Given the description of an element on the screen output the (x, y) to click on. 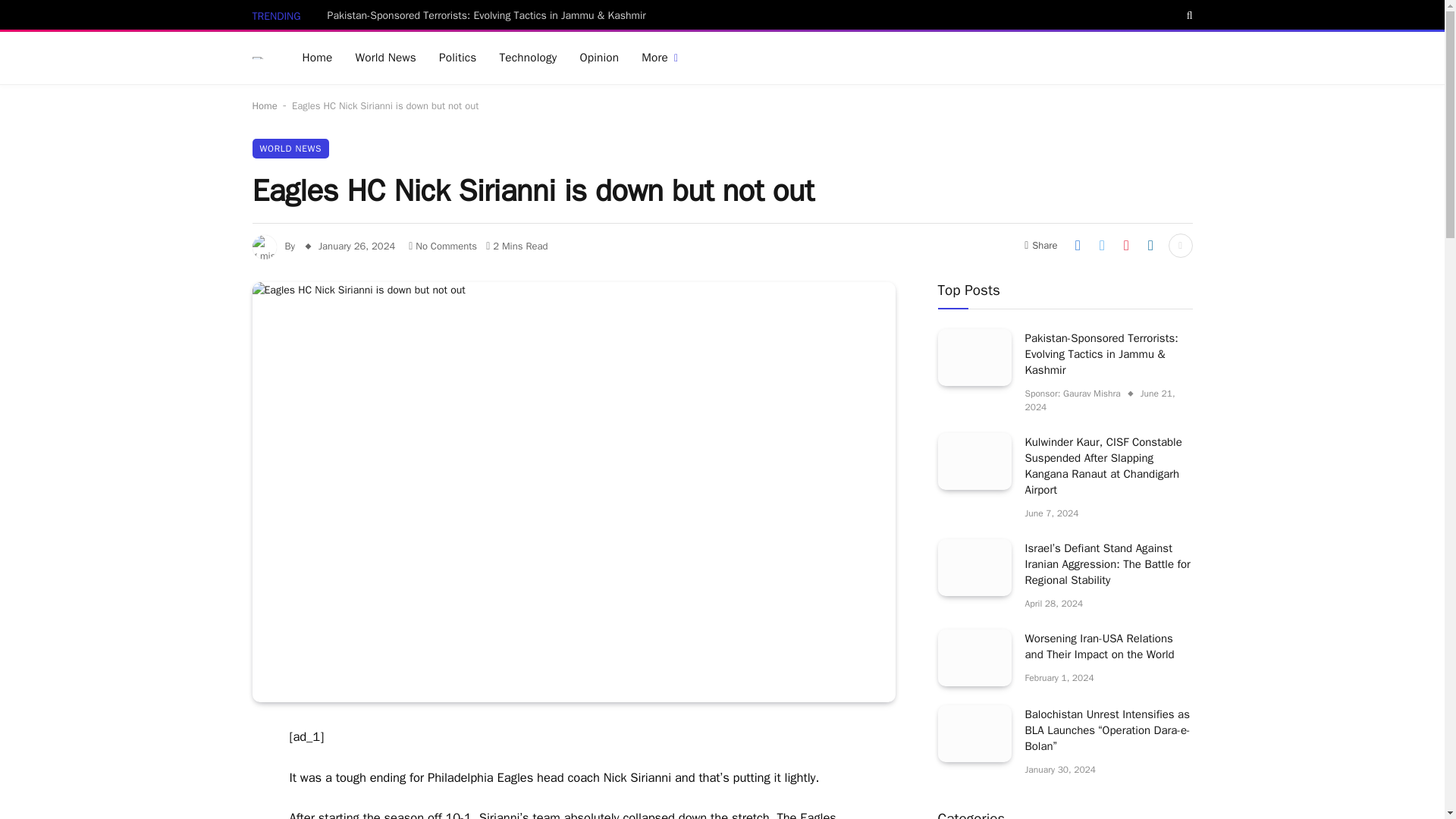
More (659, 57)
Share on Facebook (1077, 245)
No Comments (443, 245)
Technology (528, 57)
Home (263, 105)
Search (1187, 15)
Share on LinkedIn (1149, 245)
Share on Pinterest (1126, 245)
bsnews.in (257, 57)
Home (317, 57)
Opinion (598, 57)
World News (385, 57)
Show More Social Sharing (1179, 245)
Politics (457, 57)
